Given the description of an element on the screen output the (x, y) to click on. 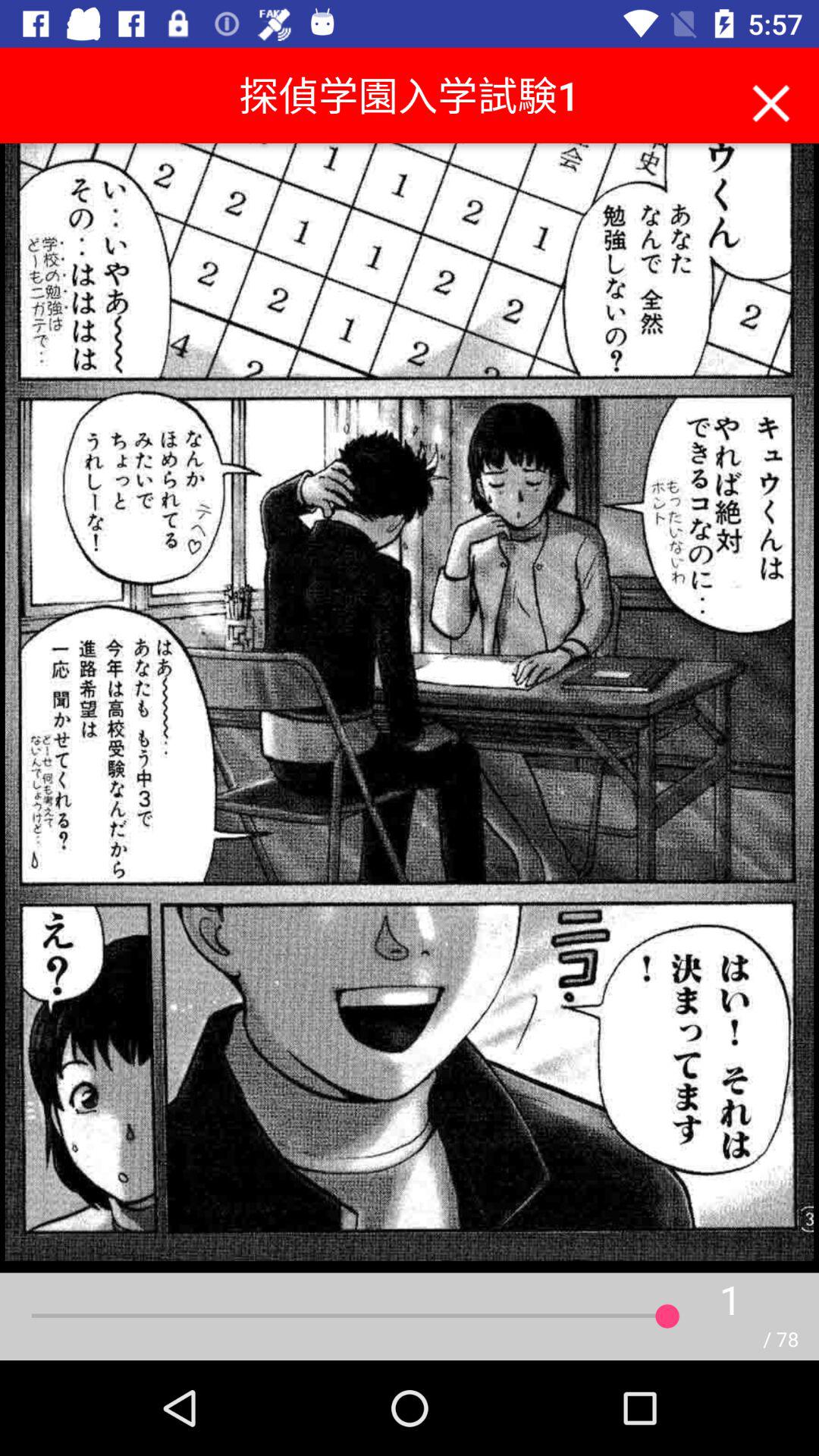
choose icon above the 1 item (771, 99)
